Given the description of an element on the screen output the (x, y) to click on. 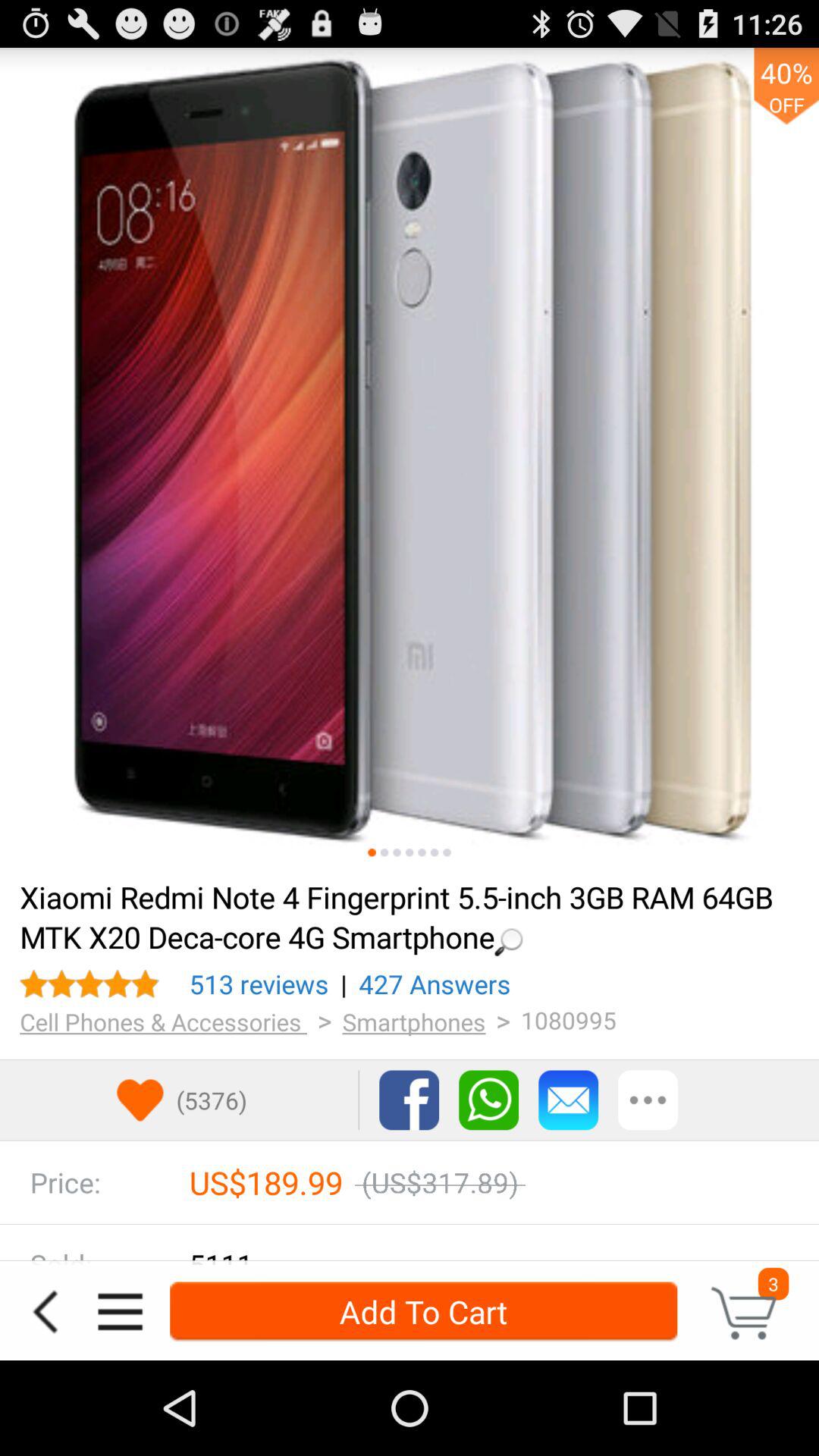
press to contact (488, 1100)
